Given the description of an element on the screen output the (x, y) to click on. 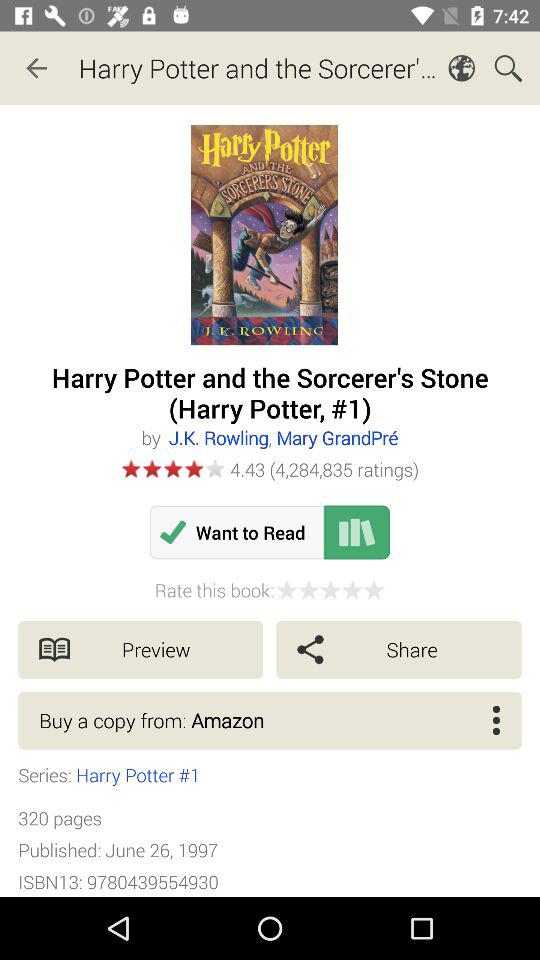
press share item (398, 649)
